Given the description of an element on the screen output the (x, y) to click on. 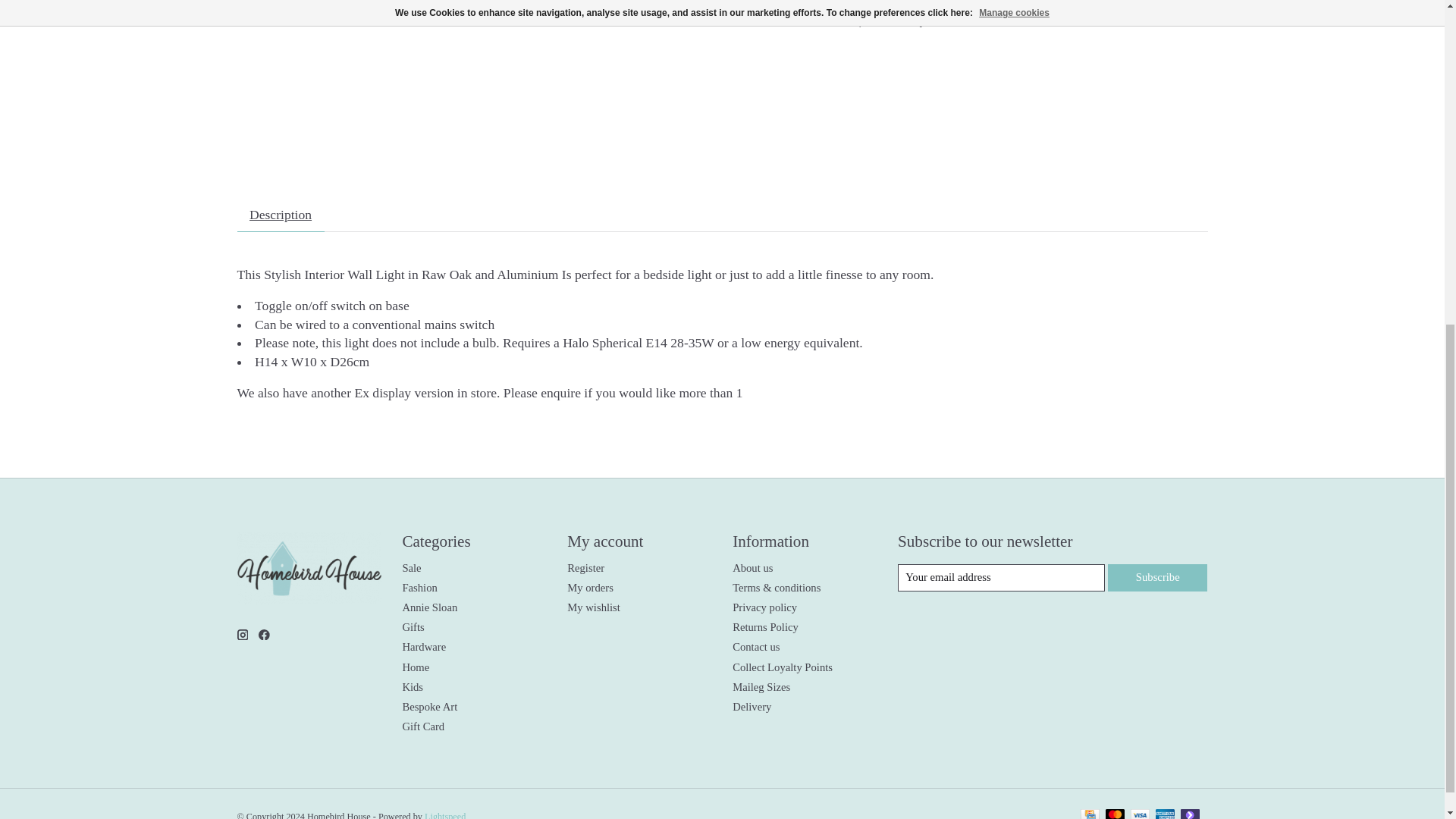
My orders (589, 587)
Register (585, 567)
Privacy policy (764, 607)
Maileg Sizes (761, 686)
Returns Policy (764, 626)
About us (752, 567)
Contact us (755, 646)
Collect Loyalty Points (782, 666)
My wishlist (593, 607)
